Given the description of an element on the screen output the (x, y) to click on. 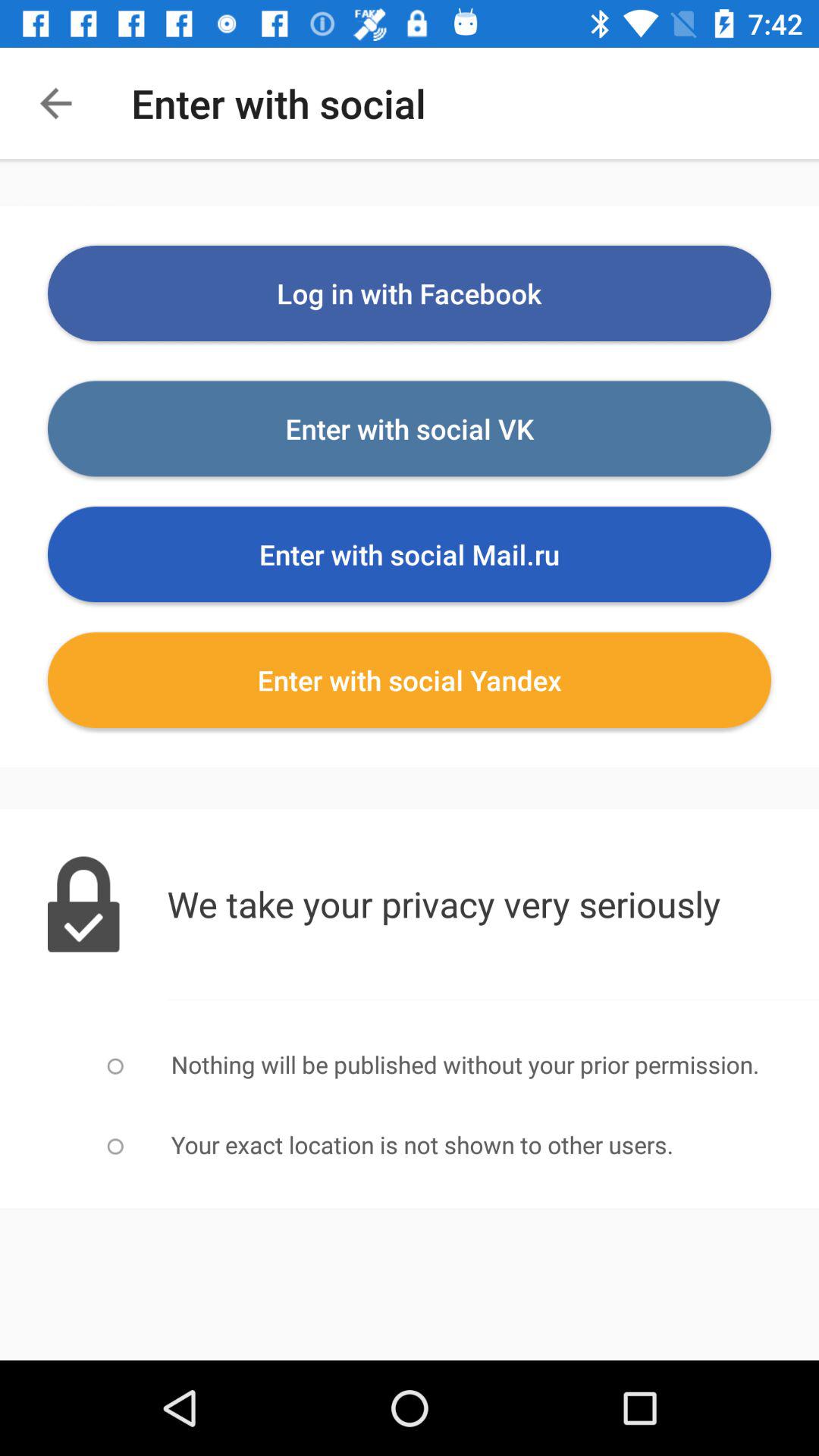
press item to the left of enter with social item (55, 103)
